Given the description of an element on the screen output the (x, y) to click on. 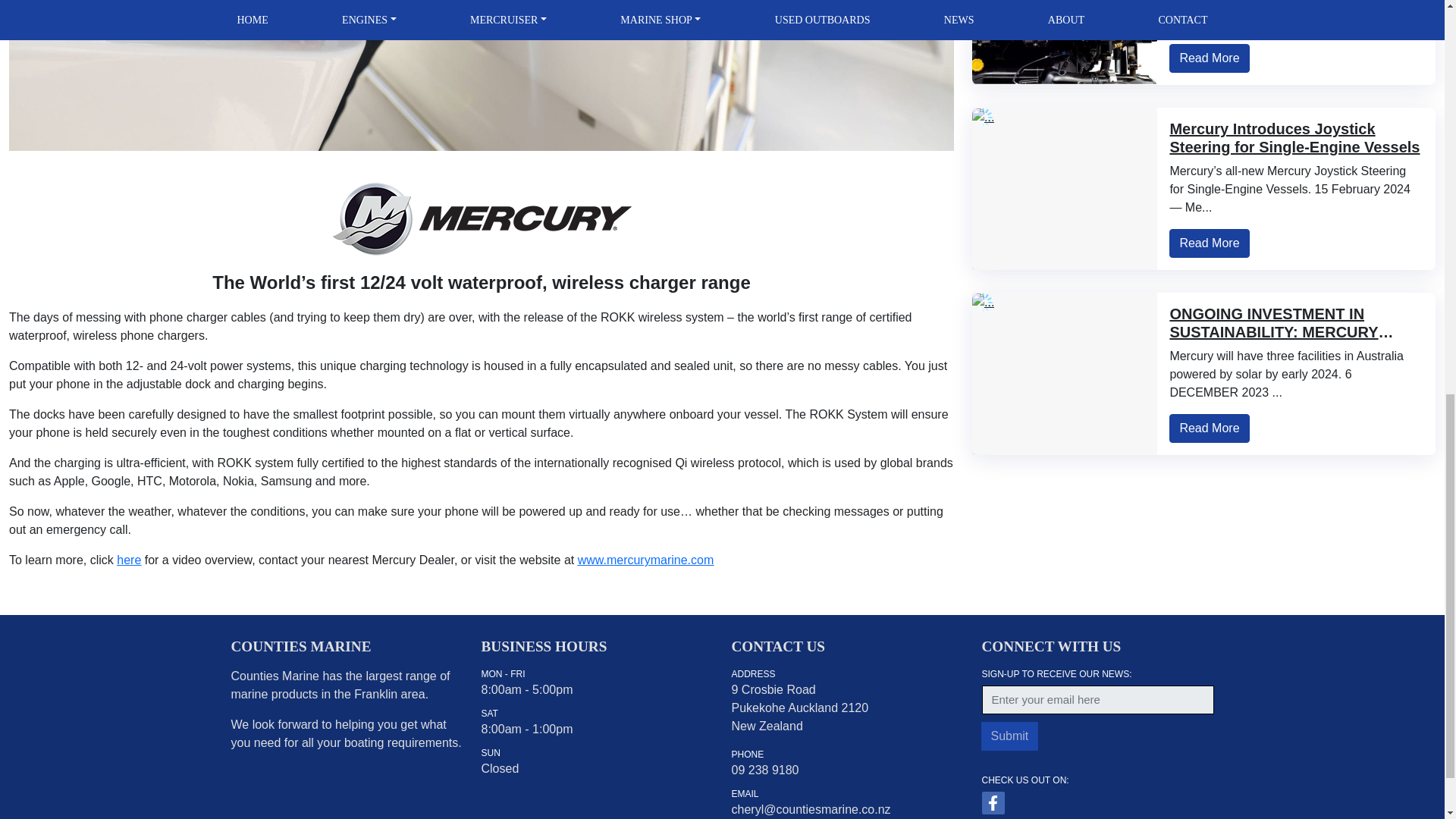
Read More (1209, 58)
here (128, 559)
www.mercurymarine.com (646, 559)
